Given the description of an element on the screen output the (x, y) to click on. 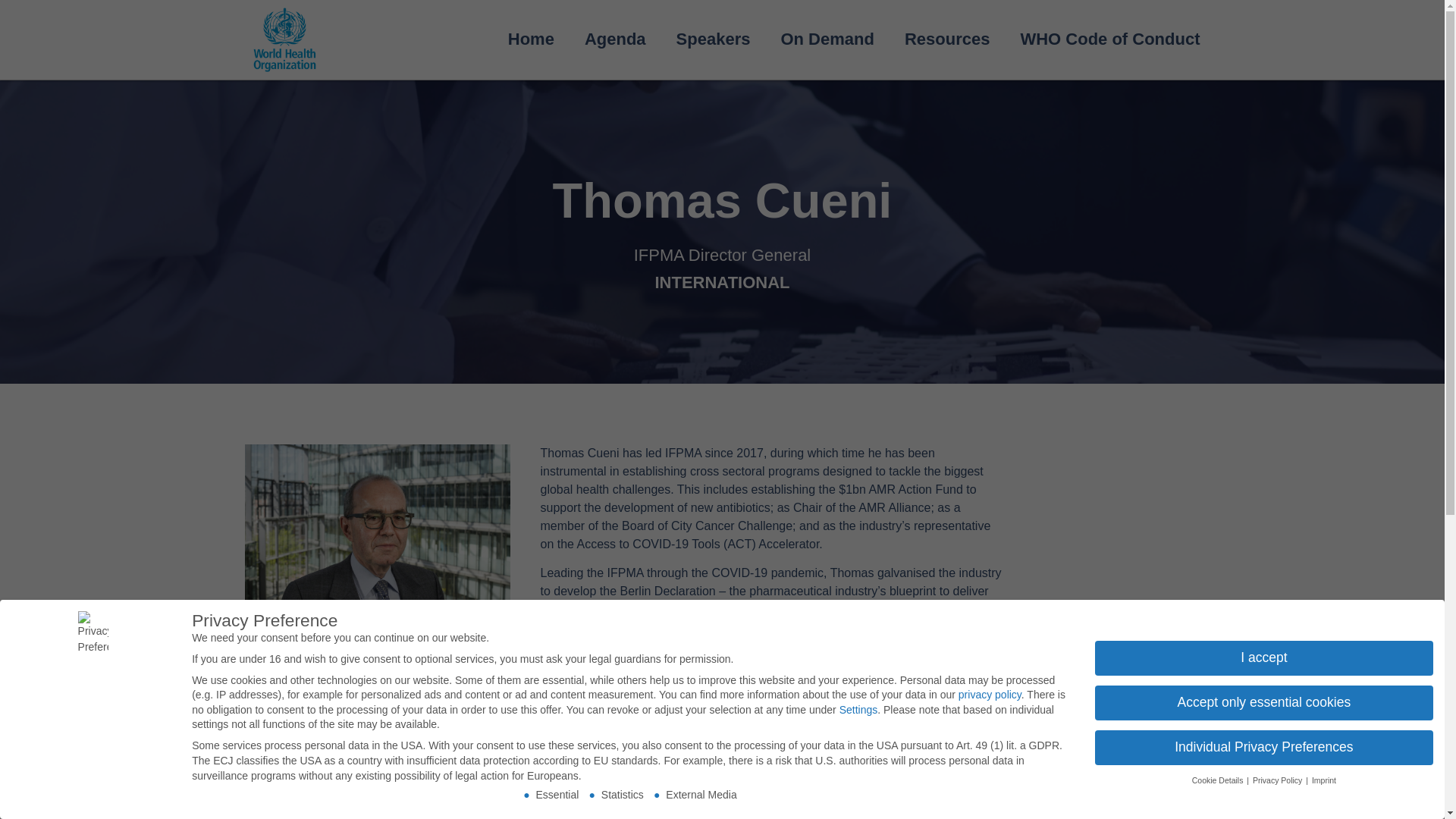
Speakers (713, 38)
Home (531, 38)
Resources (947, 38)
On Demand (826, 38)
Open Cookie Preferences (32, 799)
WHO Code of Conduct (1109, 38)
Agenda (615, 38)
